Given the description of an element on the screen output the (x, y) to click on. 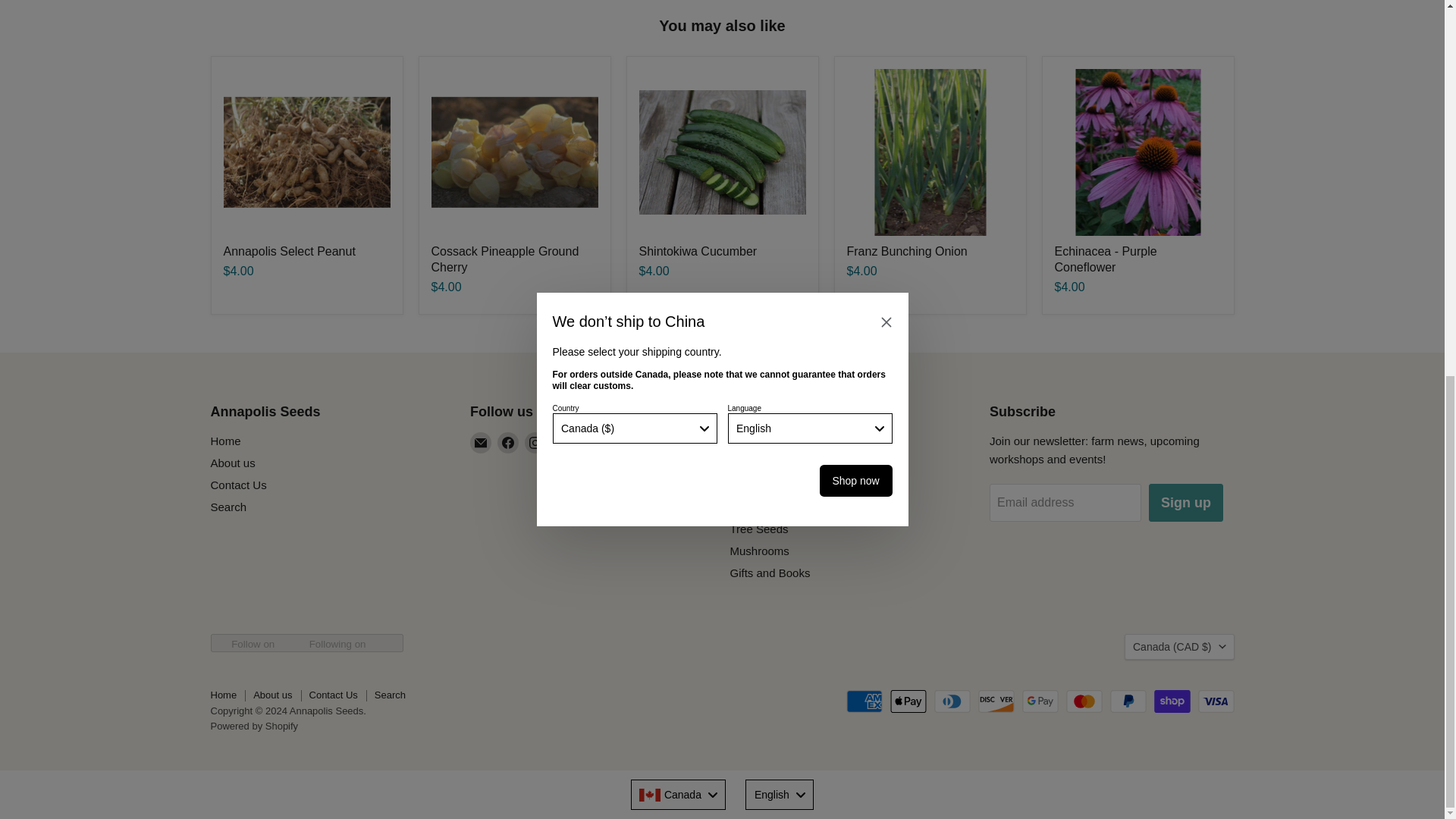
Email (481, 442)
Instagram (535, 442)
Facebook (507, 442)
